Given the description of an element on the screen output the (x, y) to click on. 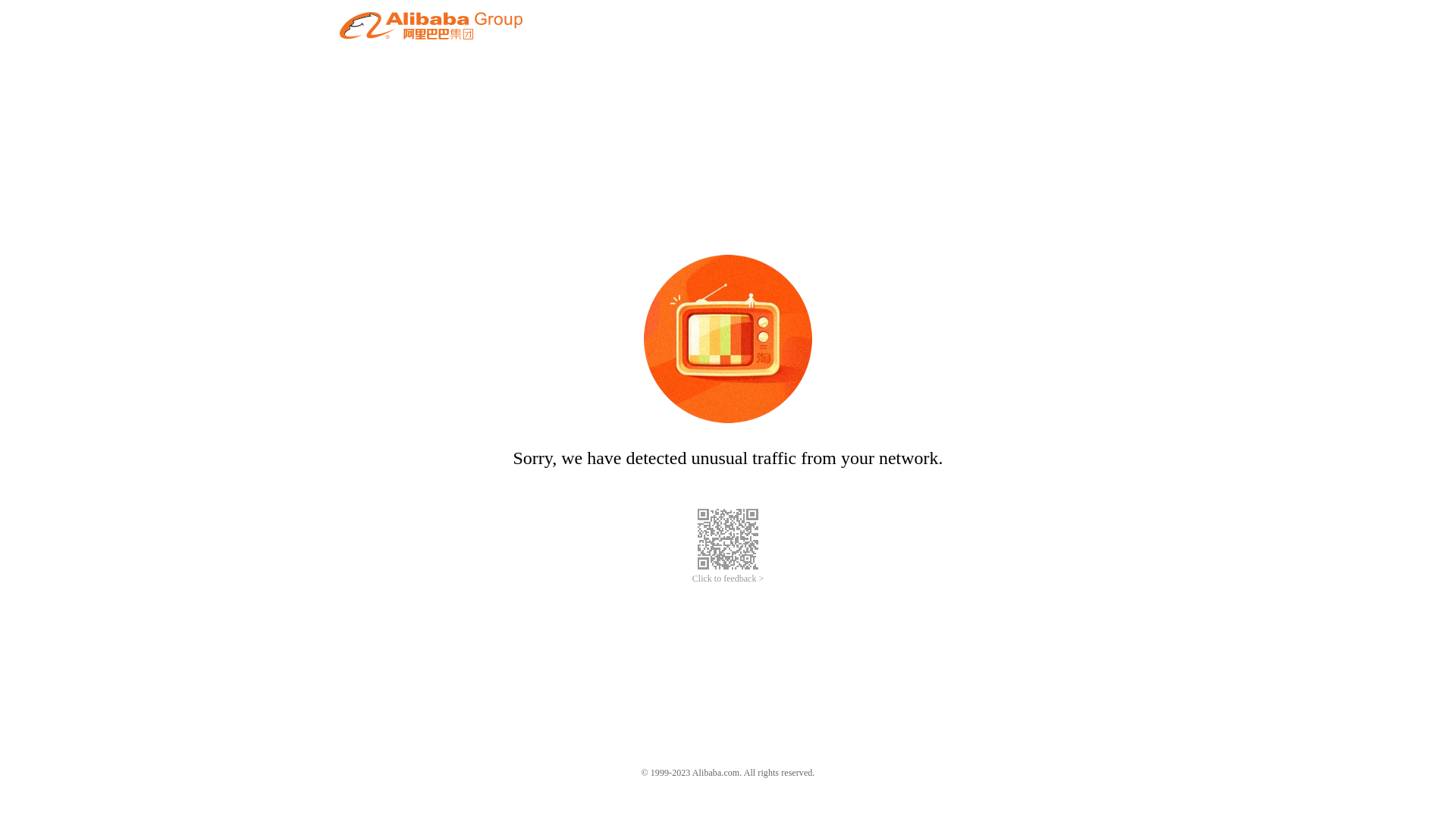
Click to feedback > Element type: text (727, 578)
